Given the description of an element on the screen output the (x, y) to click on. 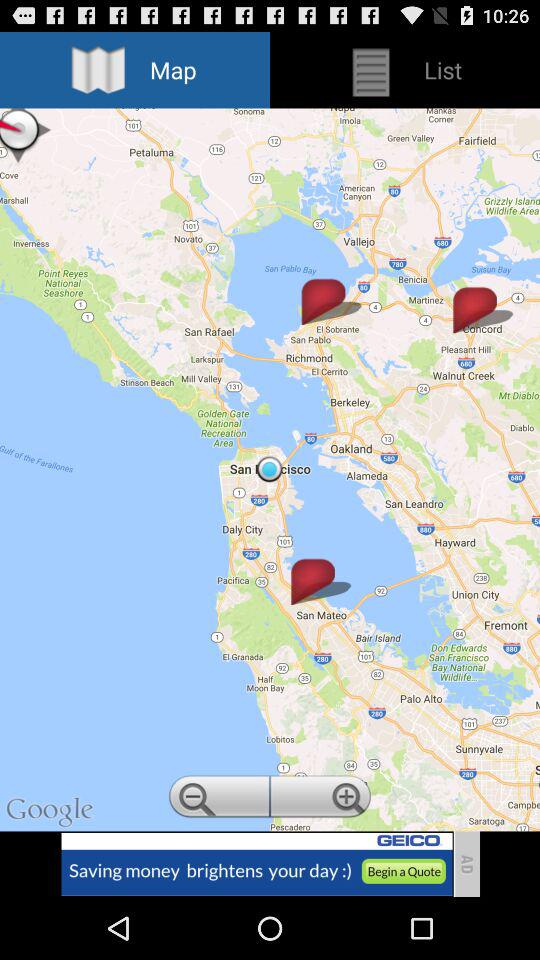
minimize the map (217, 799)
